Given the description of an element on the screen output the (x, y) to click on. 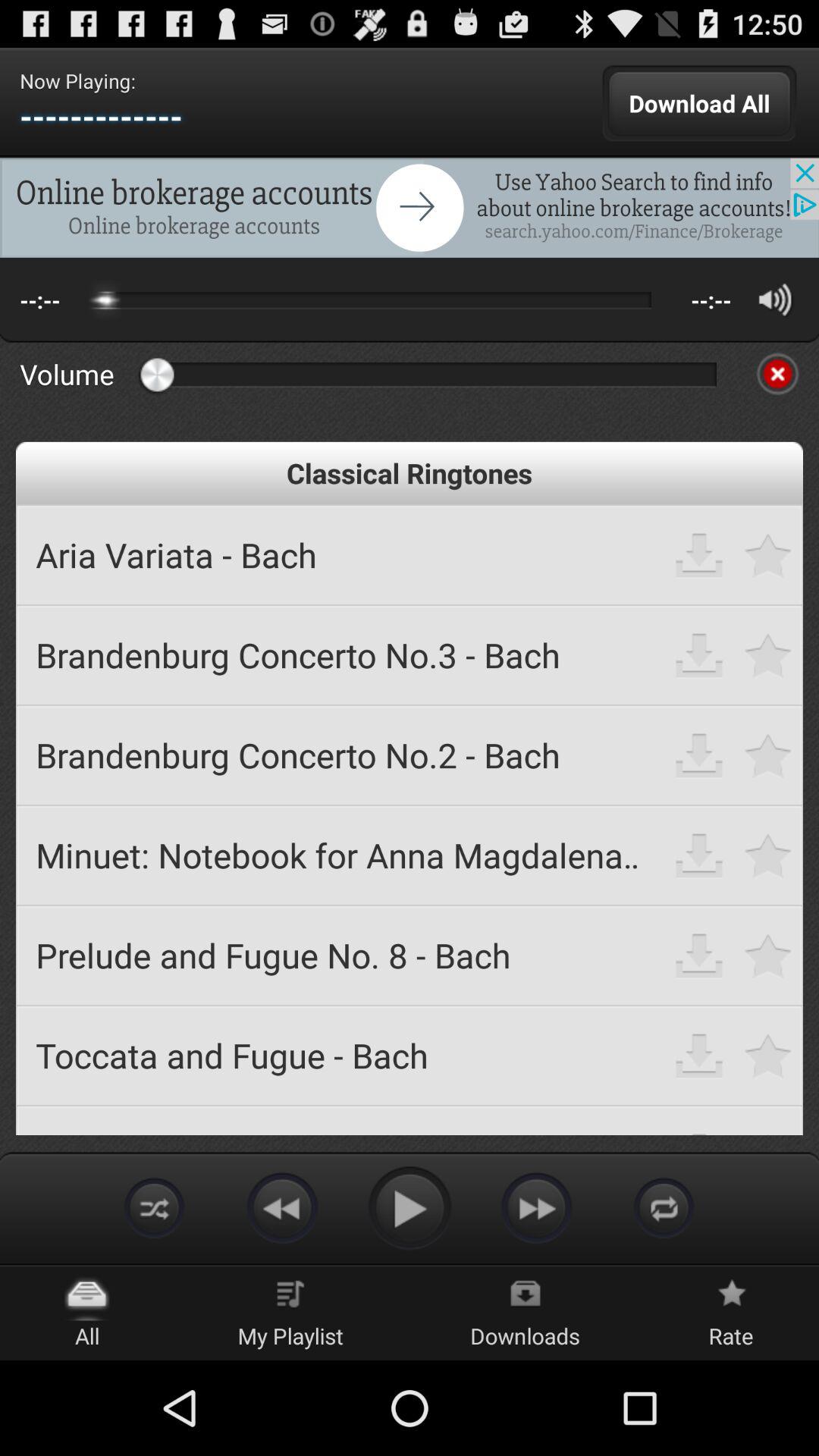
playing of the option (409, 1207)
